Given the description of an element on the screen output the (x, y) to click on. 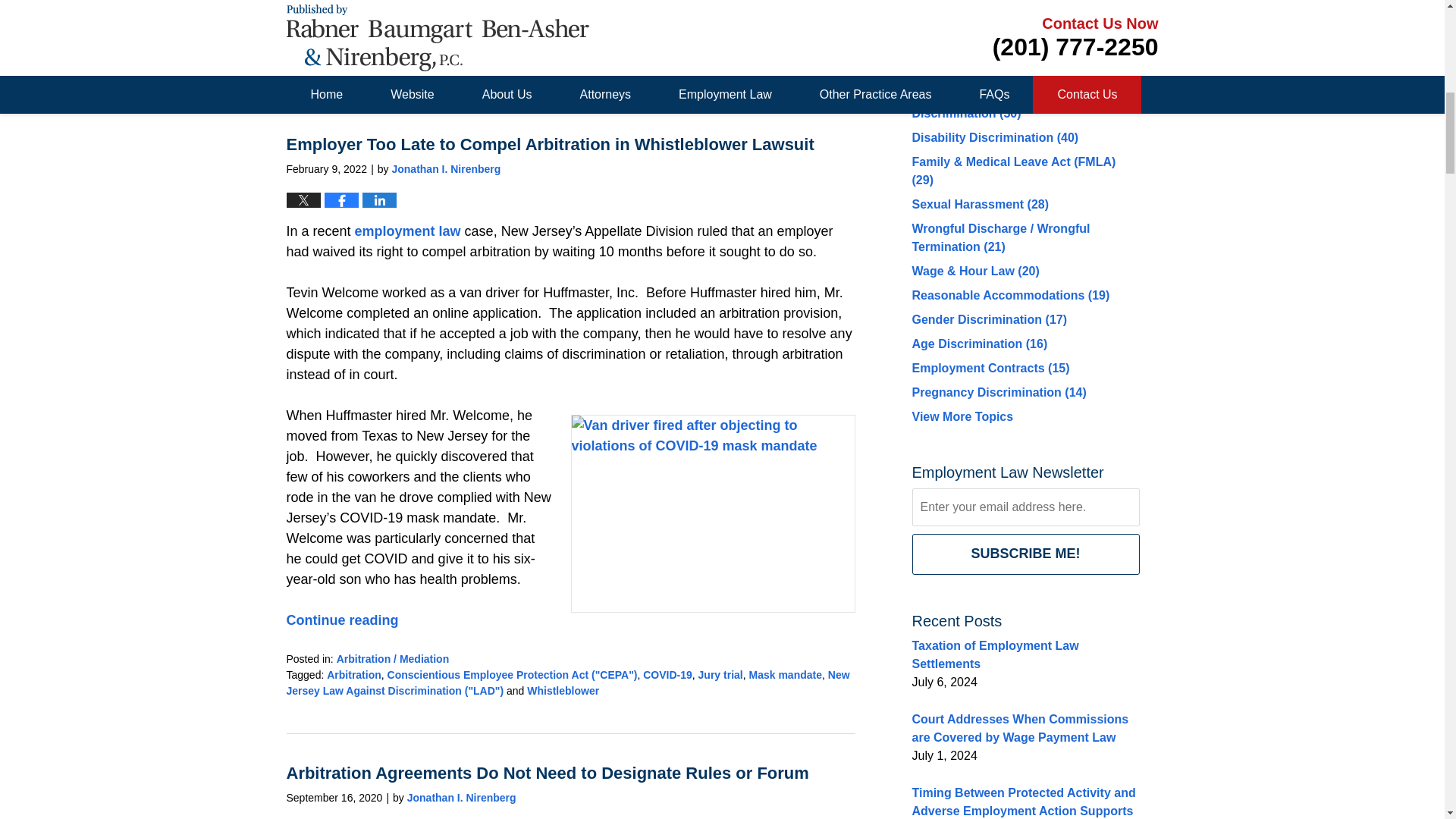
View all posts tagged with Forced arbitration (521, 61)
Sexual Harassment (520, 46)
View all posts tagged with COVID-19 (668, 674)
View all posts tagged with Sexual harassment (718, 61)
View all posts in Sexual Harassment (520, 46)
Sexual assault (609, 61)
View all posts tagged with Arbitration (353, 61)
View all posts tagged with Arbitration (353, 674)
View all posts tagged with Sexual assault (609, 61)
Sexual harassment (718, 61)
Arbitration (353, 61)
Forced arbitration (521, 61)
View all posts tagged with employment law (428, 61)
View all posts tagged with Jury trial (720, 674)
